Given the description of an element on the screen output the (x, y) to click on. 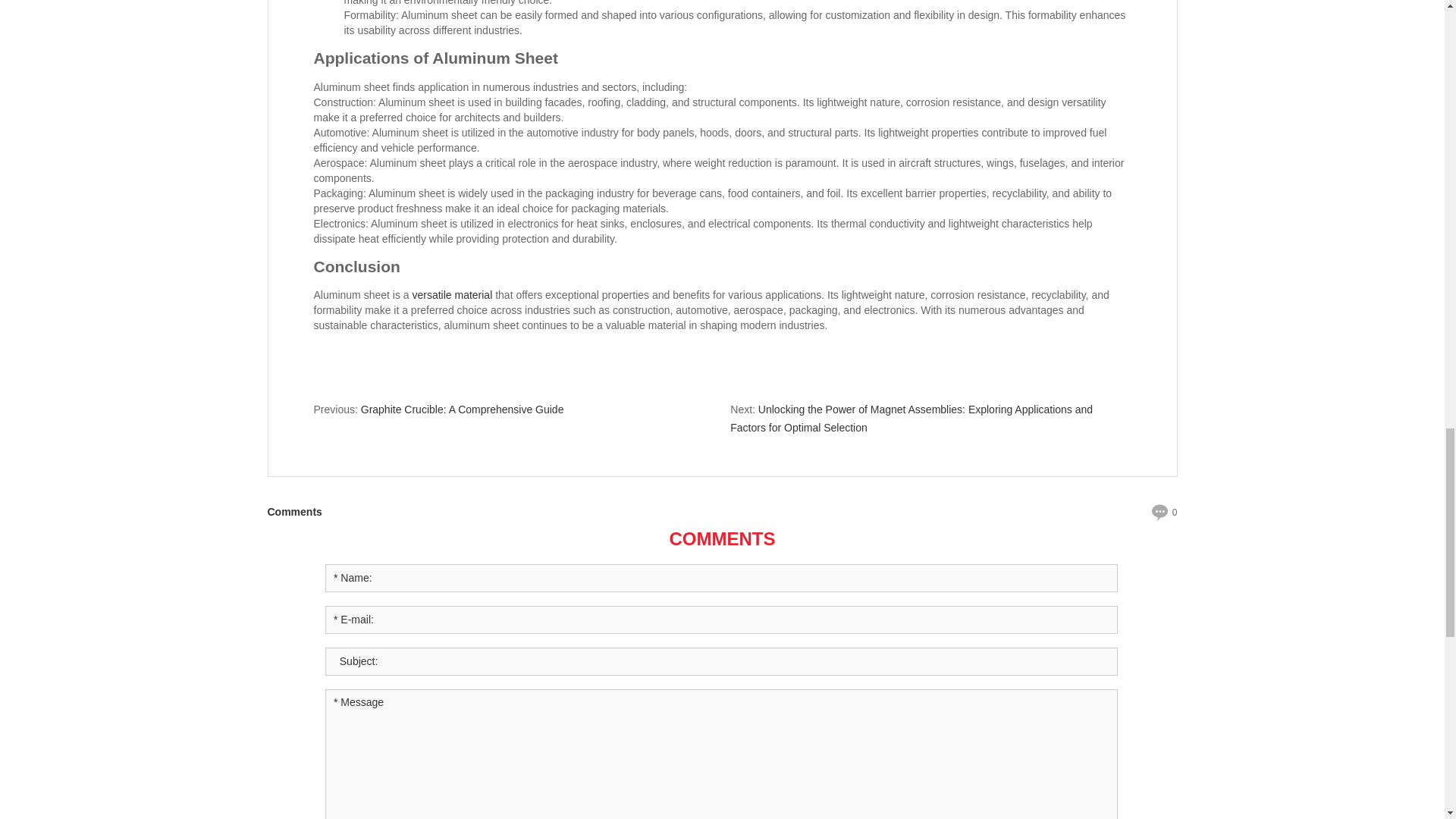
versatile material (452, 295)
